Given the description of an element on the screen output the (x, y) to click on. 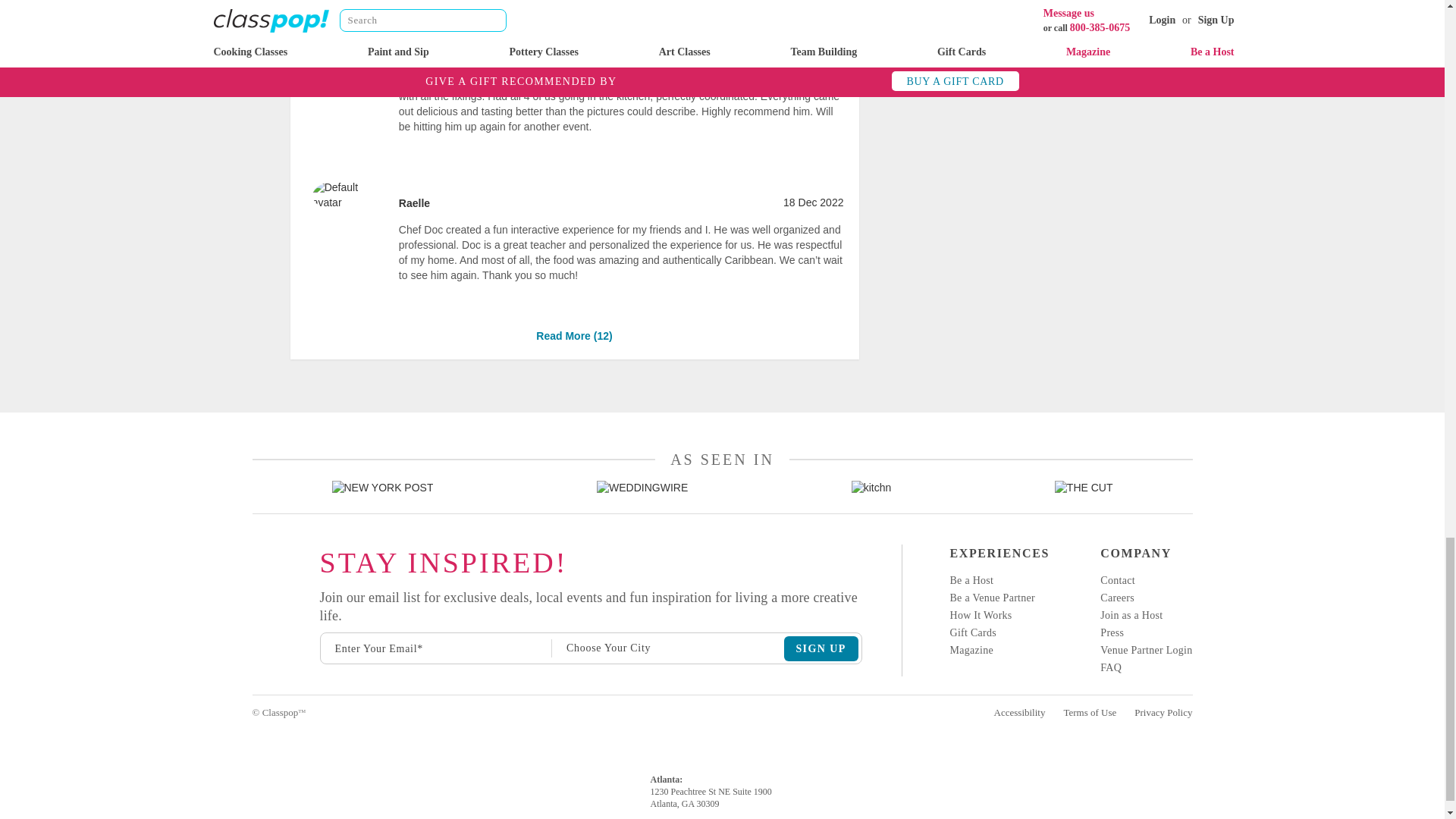
Facebook (253, 584)
Pinterest (253, 661)
Instagram (253, 558)
Twitter (253, 636)
Yelp (253, 610)
